Given the description of an element on the screen output the (x, y) to click on. 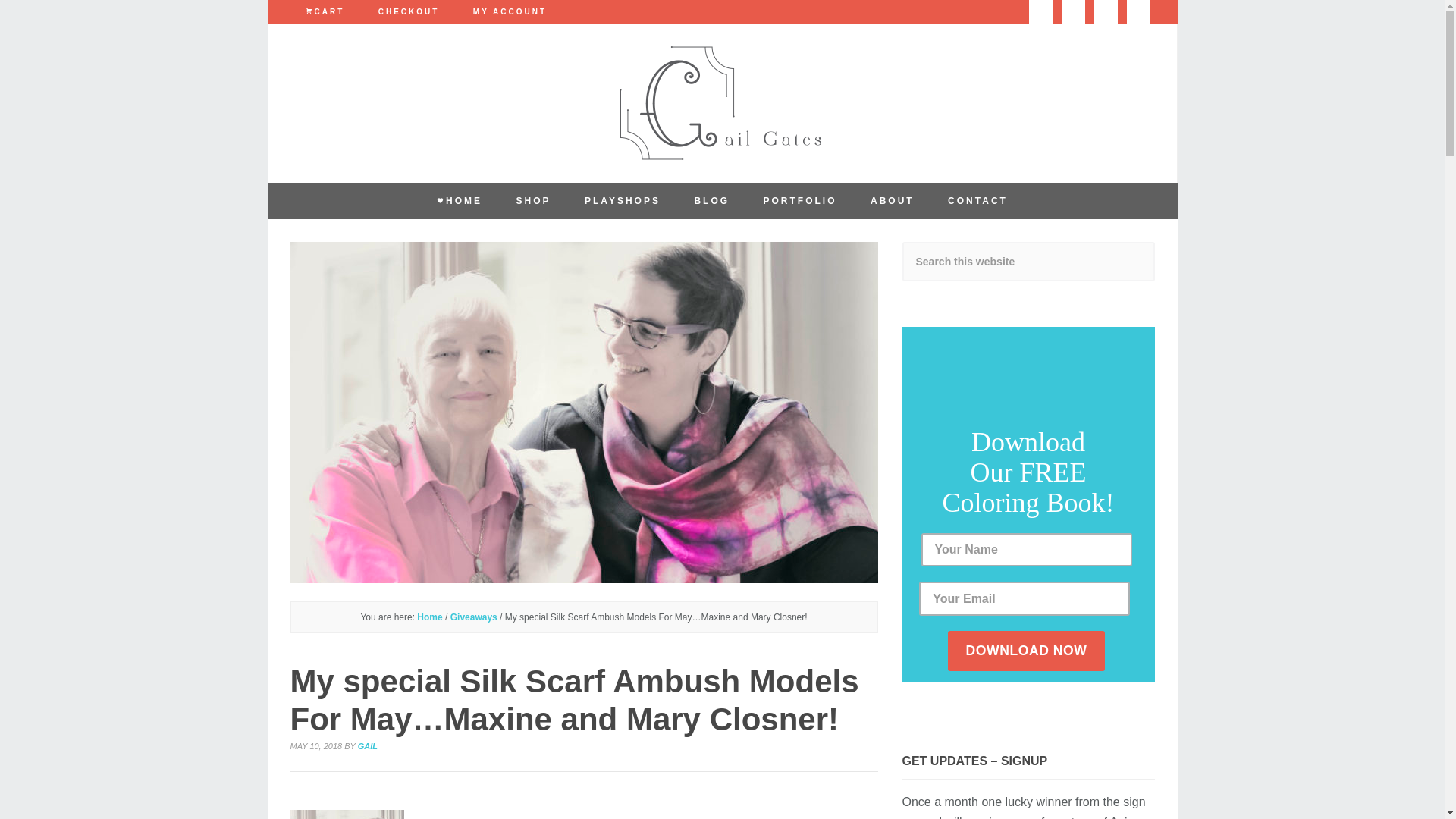
GAIL (367, 746)
AGING SCHMAGING (721, 102)
PLAYSHOPS (622, 200)
HOME (459, 200)
SHOP (533, 200)
Home (429, 616)
MY ACCOUNT (510, 11)
ABOUT (893, 200)
CHECKOUT (408, 11)
BLOG (711, 200)
CONTACT (978, 200)
Download Now (1026, 650)
PORTFOLIO (799, 200)
